Given the description of an element on the screen output the (x, y) to click on. 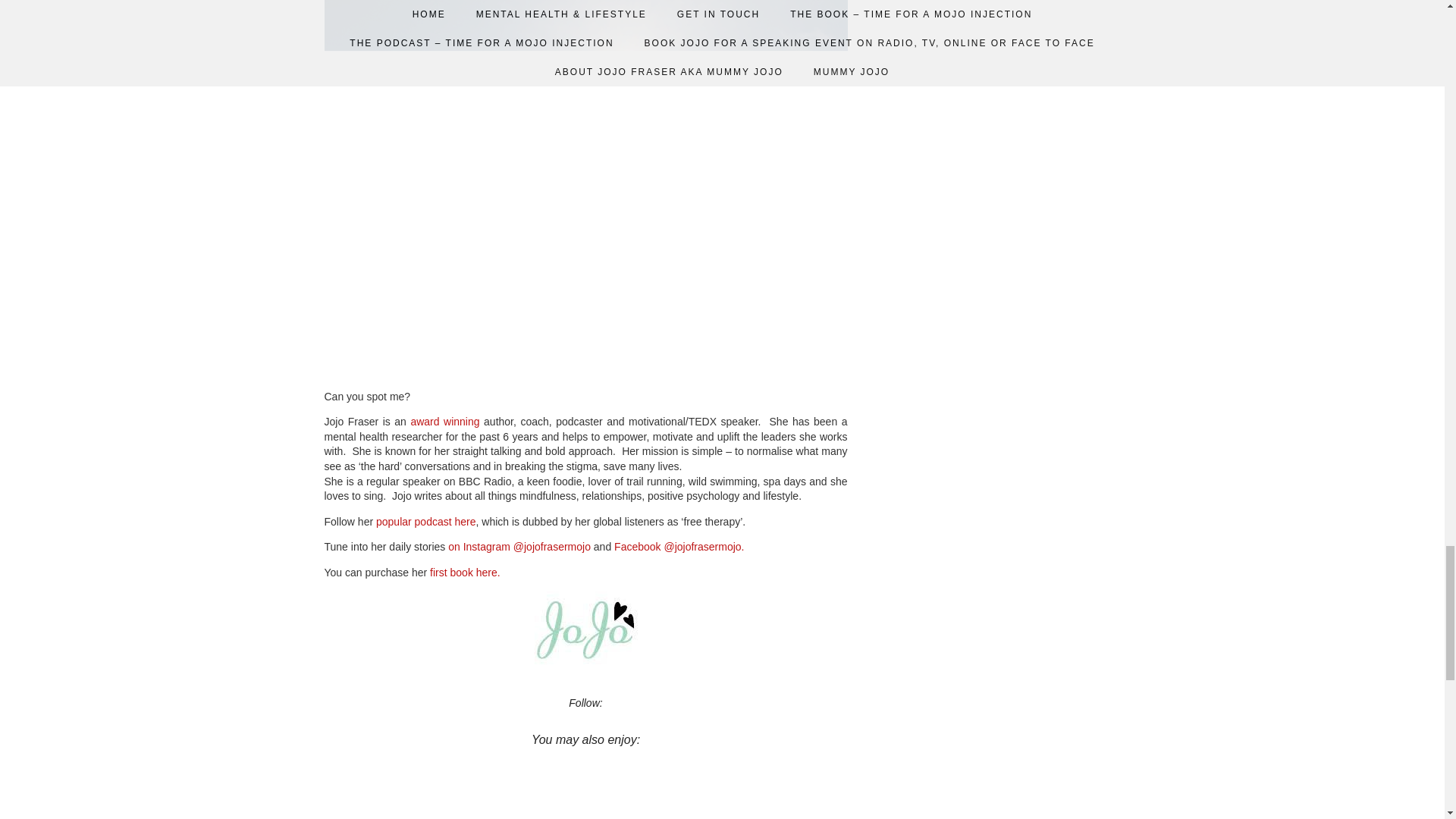
first book here. (464, 572)
 popular podcast here (424, 521)
award winning (444, 421)
